Given the description of an element on the screen output the (x, y) to click on. 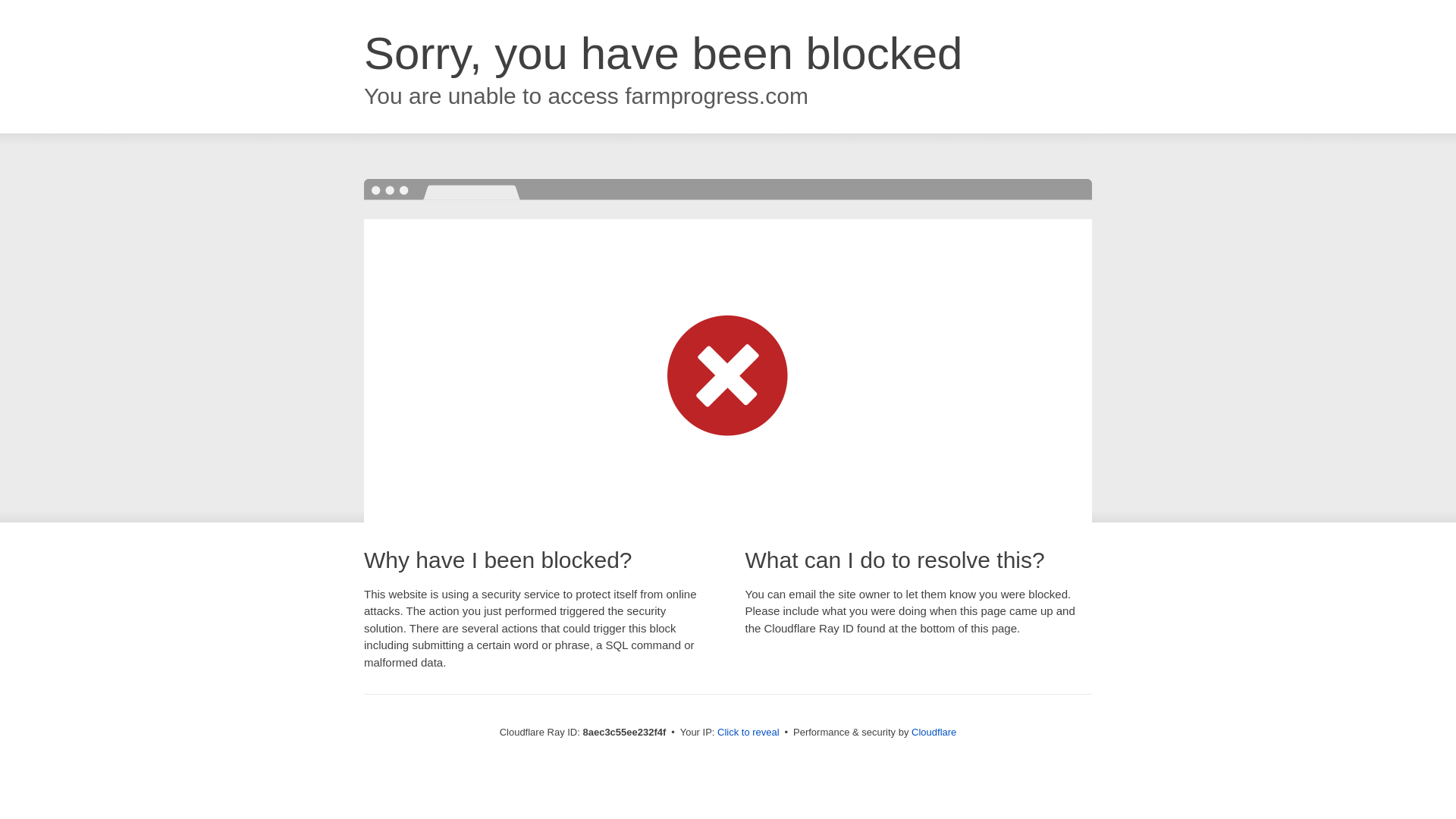
Cloudflare (933, 731)
Click to reveal (747, 732)
